Given the description of an element on the screen output the (x, y) to click on. 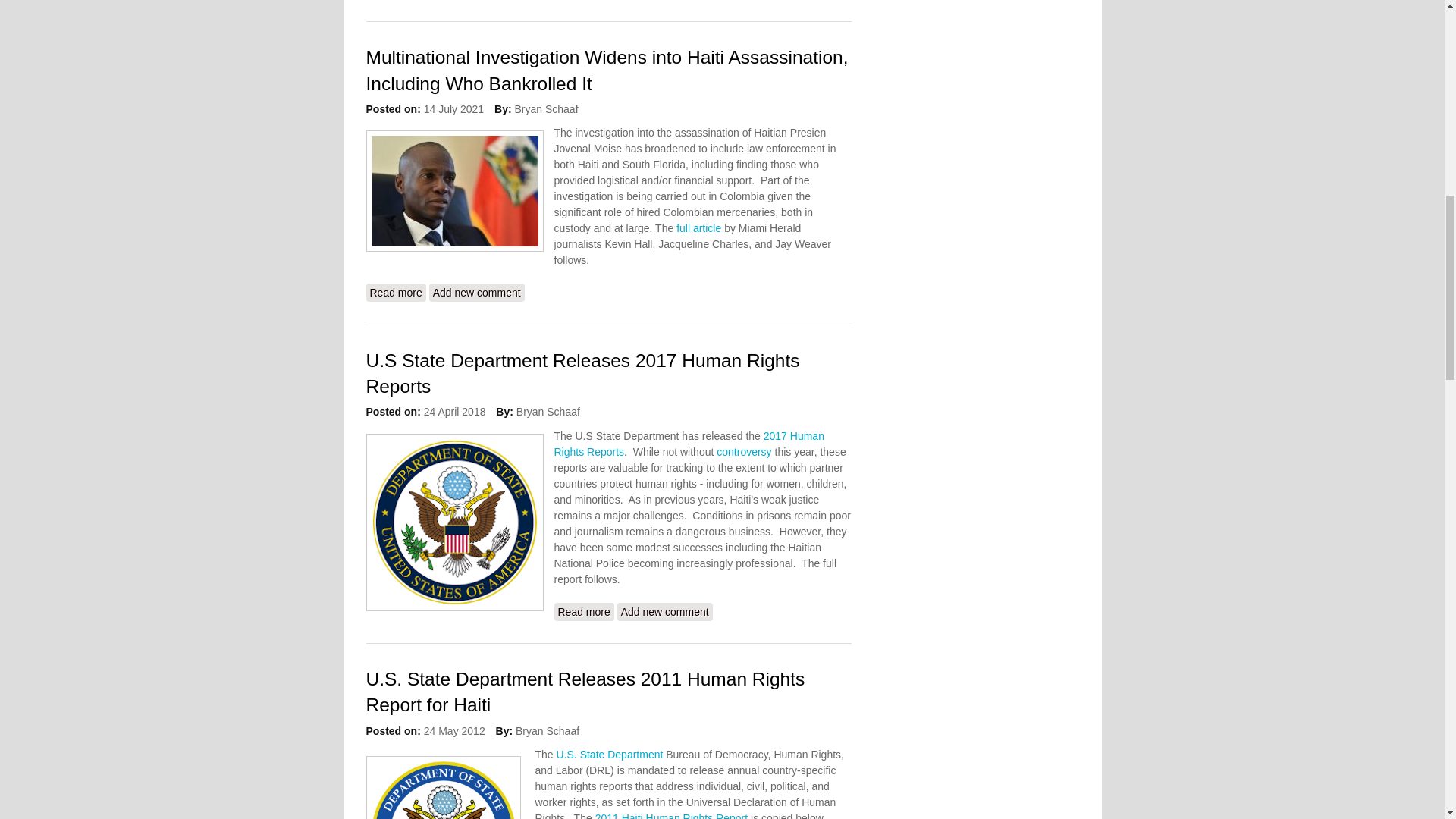
full article (698, 227)
controversy (745, 451)
Add new comment (476, 292)
2017 Human Rights Reports (688, 443)
Add a new comment to this page. (476, 292)
Add new comment (665, 611)
2011 Haiti Human Rights Report (671, 815)
U.S State Department Releases 2017 Human Rights Reports (582, 373)
U.S. State Department (609, 754)
Add a new comment to this page. (665, 611)
U.S State Department Releases 2017 Human Rights Reports (582, 611)
